Given the description of an element on the screen output the (x, y) to click on. 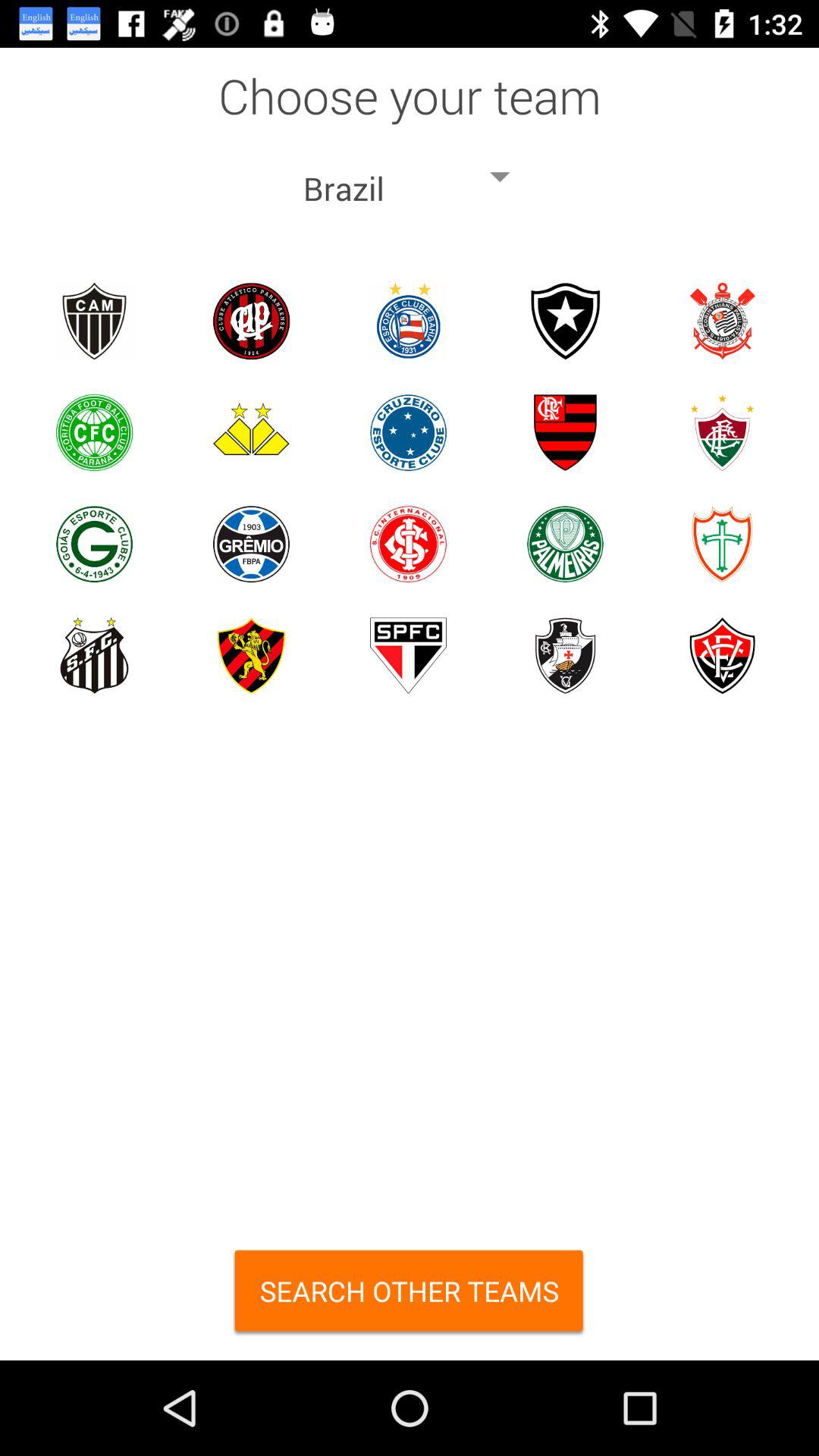
see info for this team (565, 655)
